Given the description of an element on the screen output the (x, y) to click on. 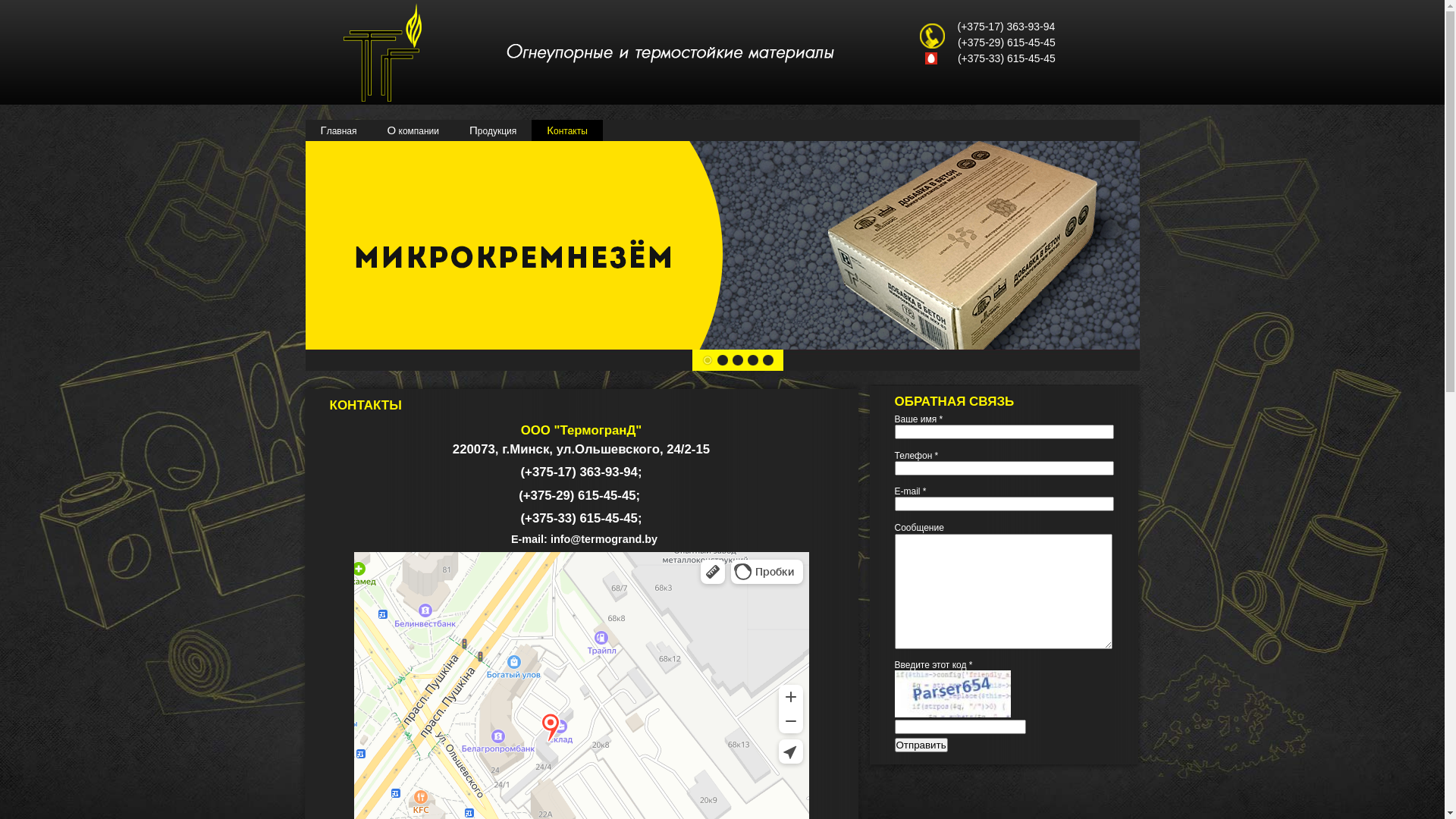
3 Element type: text (736, 359)
1 Element type: text (706, 359)
4 Element type: text (751, 359)
2 Element type: text (721, 359)
5 Element type: text (767, 359)
